Given the description of an element on the screen output the (x, y) to click on. 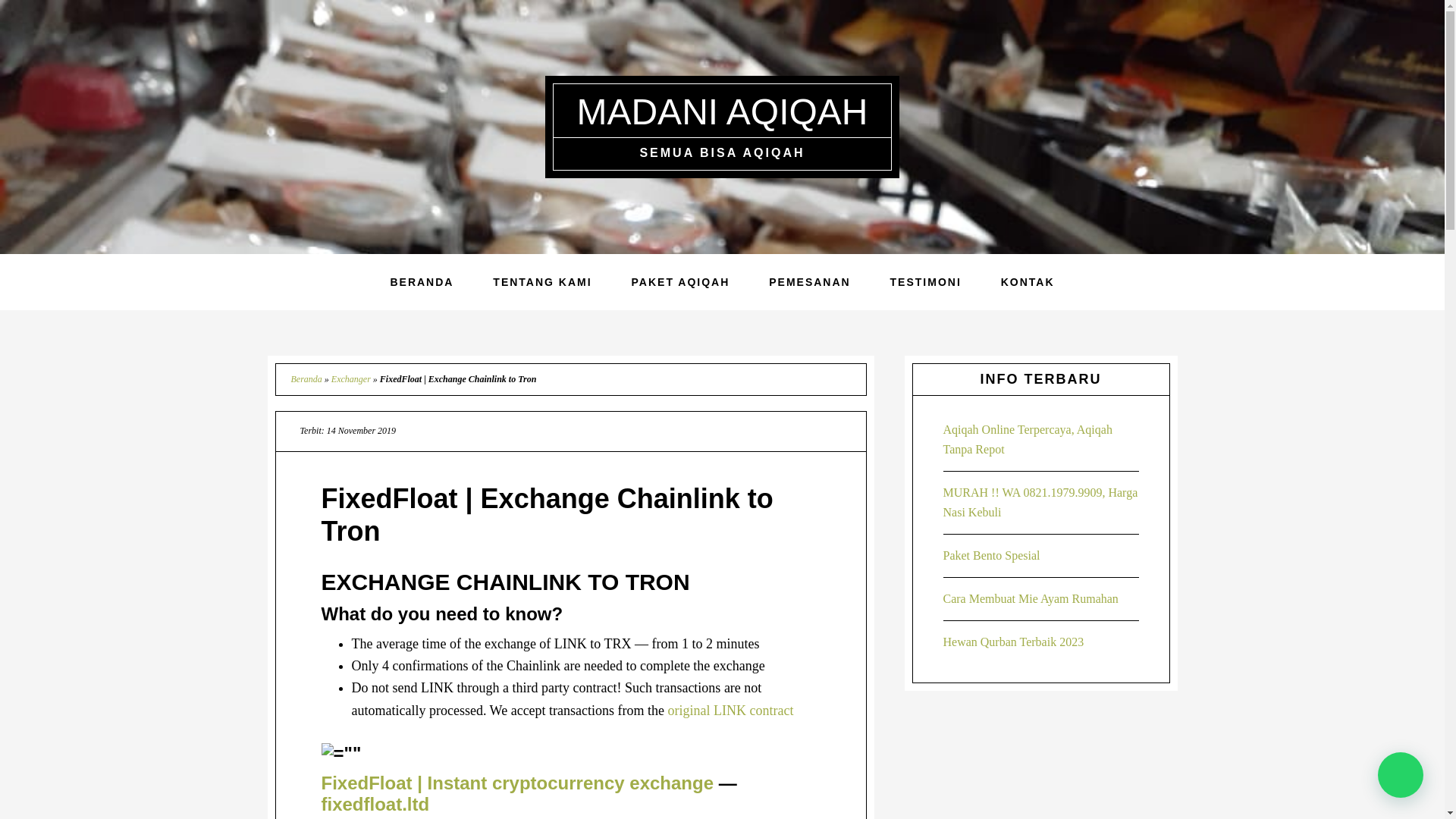
KONTAK (1027, 281)
PEMESANAN (809, 281)
Hewan Qurban Terbaik 2023 (1013, 641)
Beranda (306, 378)
Aqiqah Online Terpercaya, Aqiqah Tanpa Repot (1027, 439)
Paket Bento Spesial (992, 554)
original LINK contract (730, 710)
fixedfloat.ltd (375, 803)
Cara Membuat Mie Ayam Rumahan (1030, 598)
MURAH !! WA 0821.1979.9909, Harga Nasi Kebuli (1040, 502)
TESTIMONI (925, 281)
MADANI AQIQAH (721, 111)
BERANDA (421, 281)
Exchanger (351, 378)
